Given the description of an element on the screen output the (x, y) to click on. 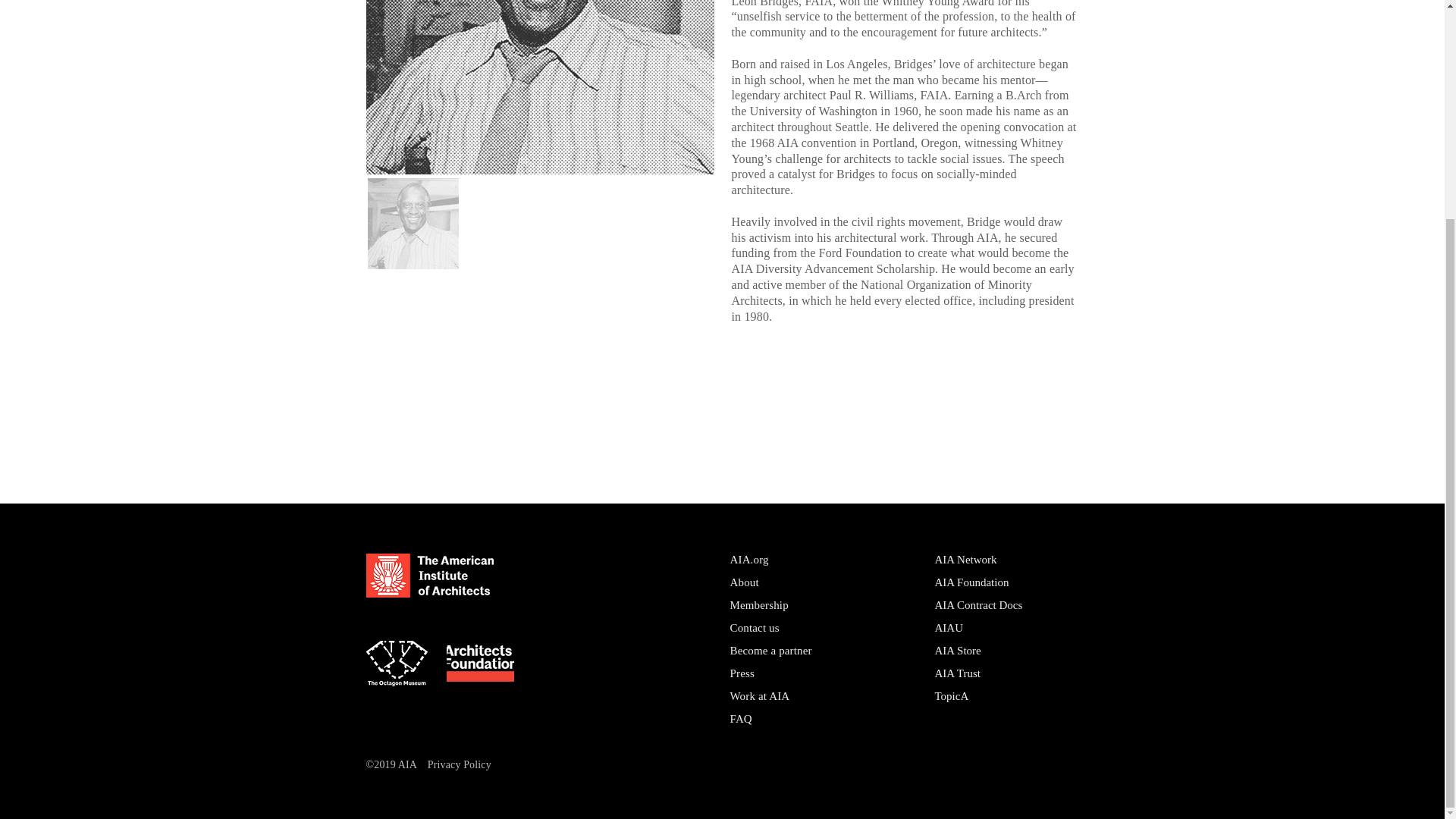
AIA Trust (956, 673)
AIA Contract Docs (978, 604)
Press (741, 673)
Membership (758, 604)
AIA Foundation (971, 582)
FAQ (740, 718)
Privacy Policy (460, 764)
AIA Store (956, 650)
Become a partner (769, 650)
AIAU (948, 627)
Contact us (753, 627)
About (743, 582)
TopicA (951, 695)
Work at AIA (759, 695)
